Given the description of an element on the screen output the (x, y) to click on. 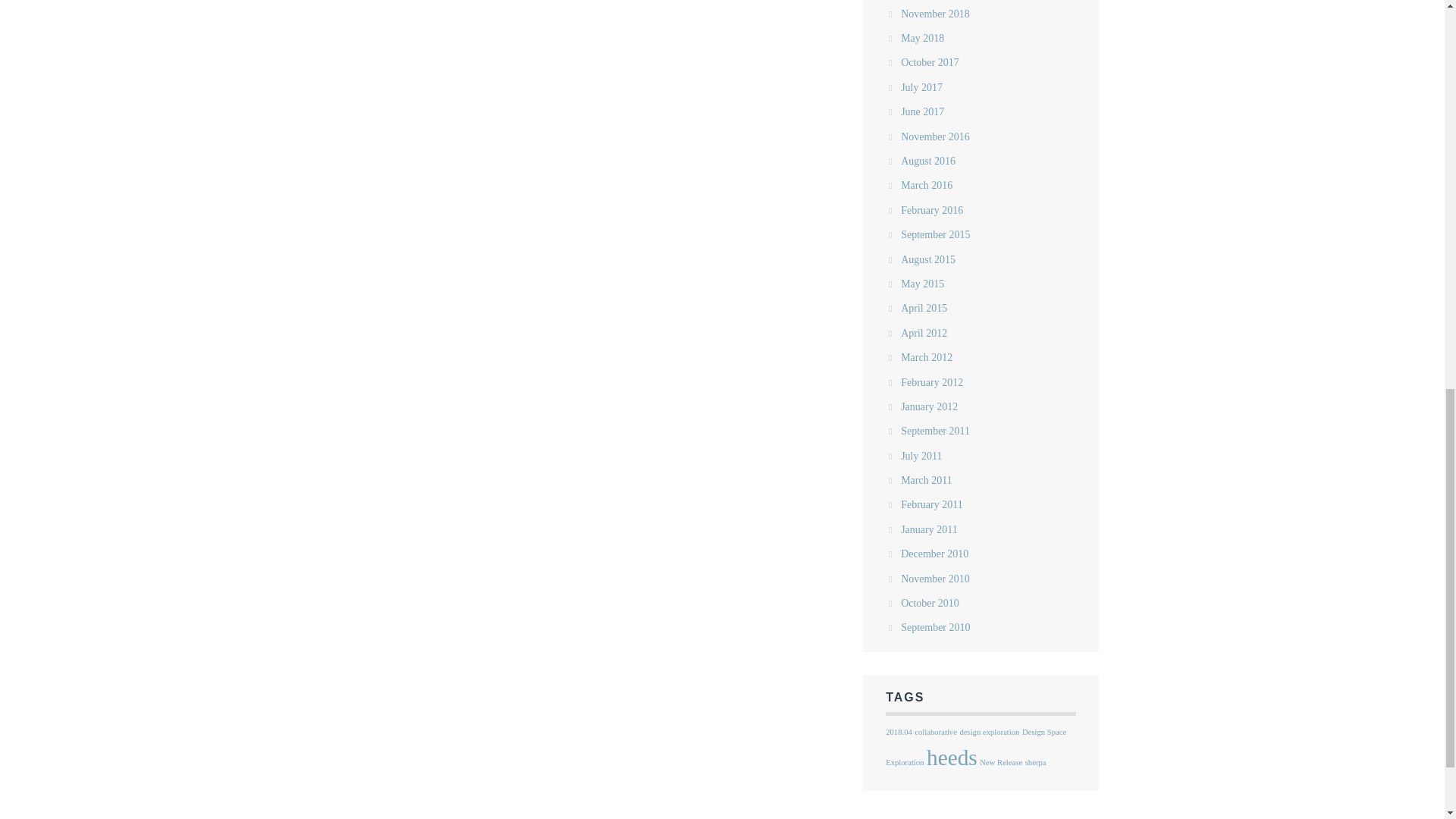
August 2015 (928, 259)
May 2018 (922, 38)
November 2018 (935, 13)
September 2015 (935, 234)
April 2012 (924, 333)
March 2012 (926, 357)
July 2017 (921, 87)
November 2016 (935, 136)
June 2017 (922, 111)
April 2015 (924, 307)
